Given the description of an element on the screen output the (x, y) to click on. 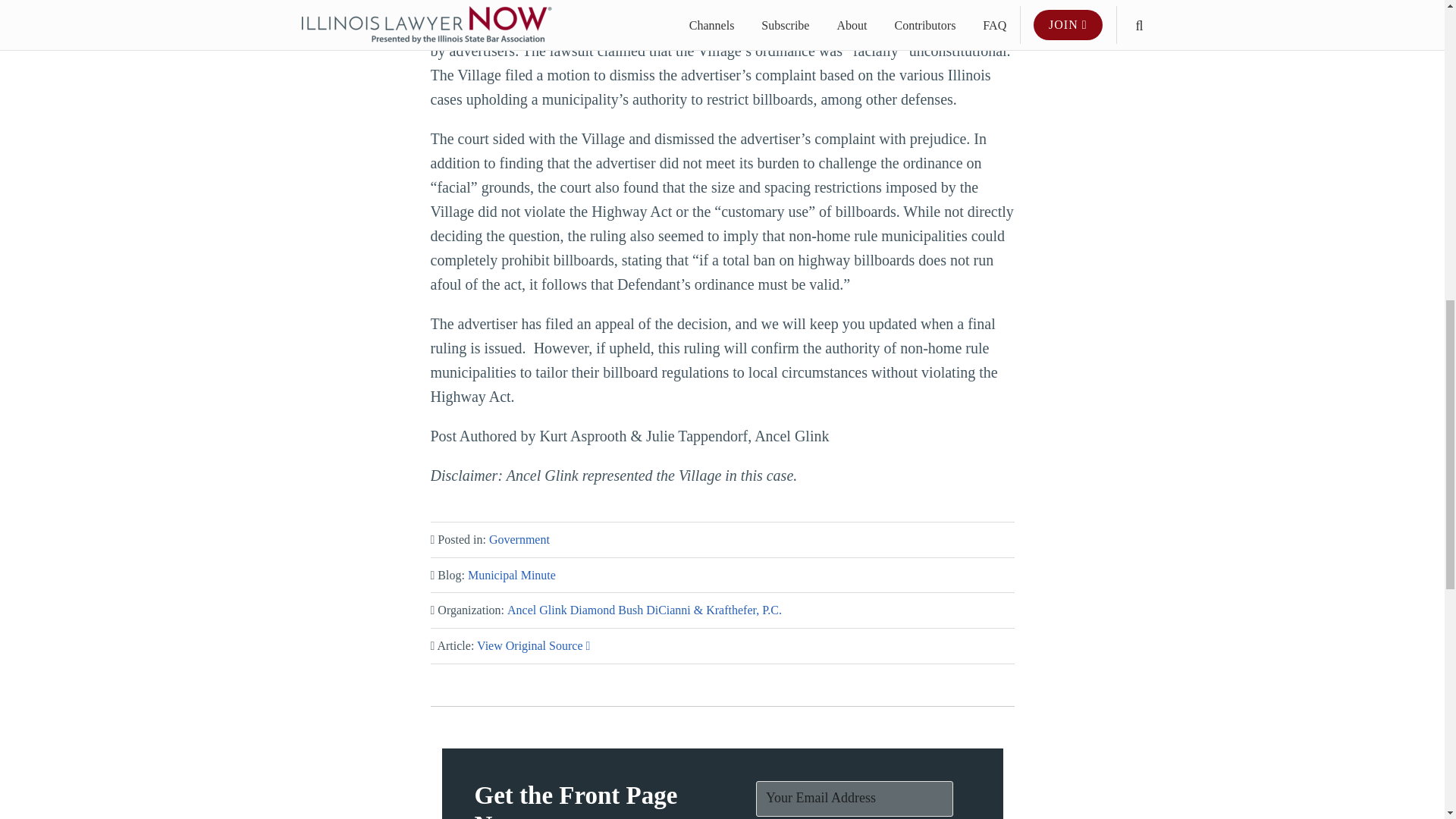
Municipal Minute (511, 574)
Government (519, 539)
View Original Source (533, 645)
